Given the description of an element on the screen output the (x, y) to click on. 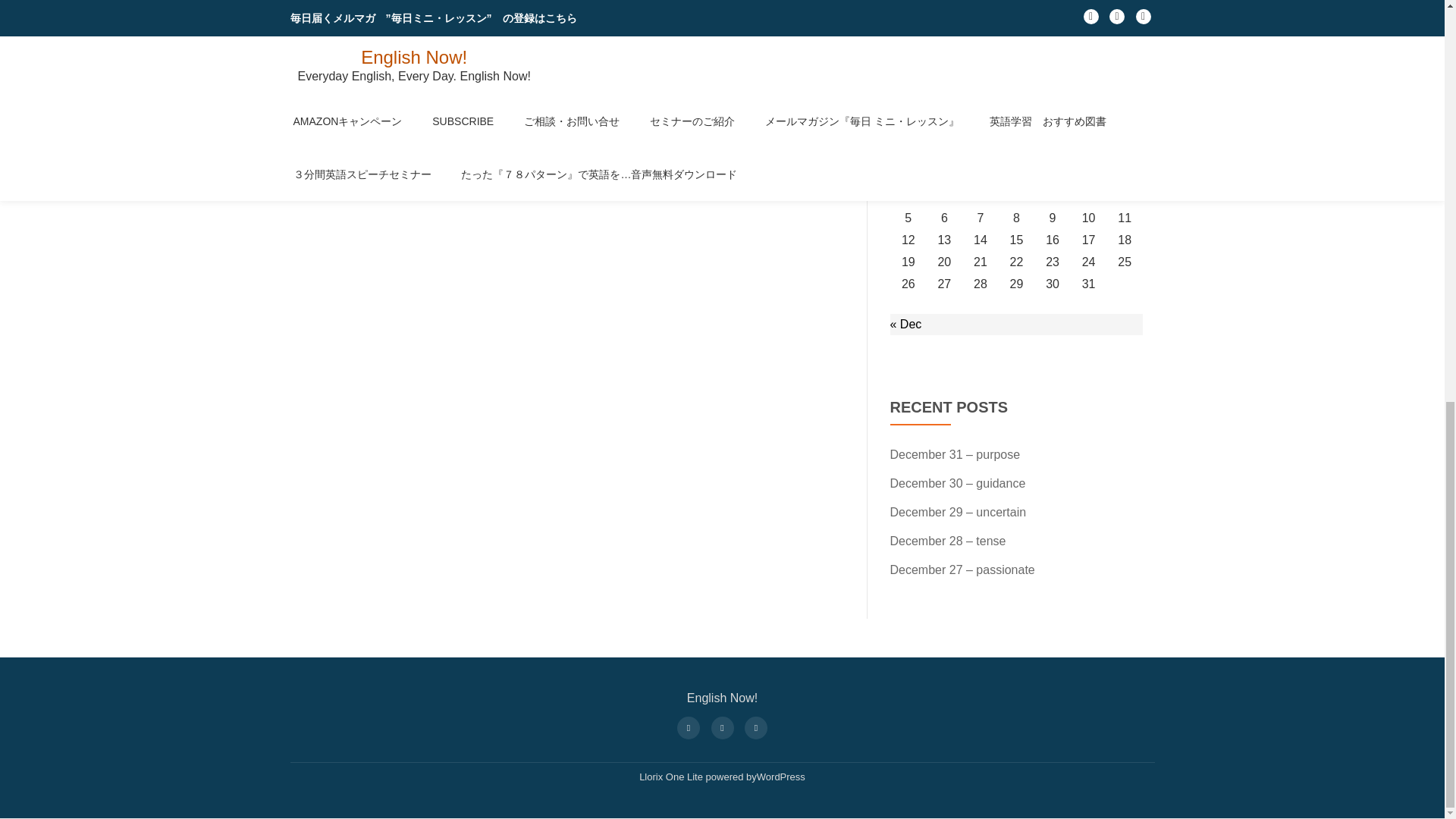
WordPress (781, 776)
fa-twitter (721, 726)
fa-google-plus-square (756, 726)
Monday (907, 173)
Wednesday (980, 173)
fa-facebook (687, 726)
Saturday (1088, 173)
Sunday (1124, 173)
Llorix One Lite (671, 776)
Tuesday (944, 173)
Friday (1052, 173)
Thursday (1015, 173)
